Given the description of an element on the screen output the (x, y) to click on. 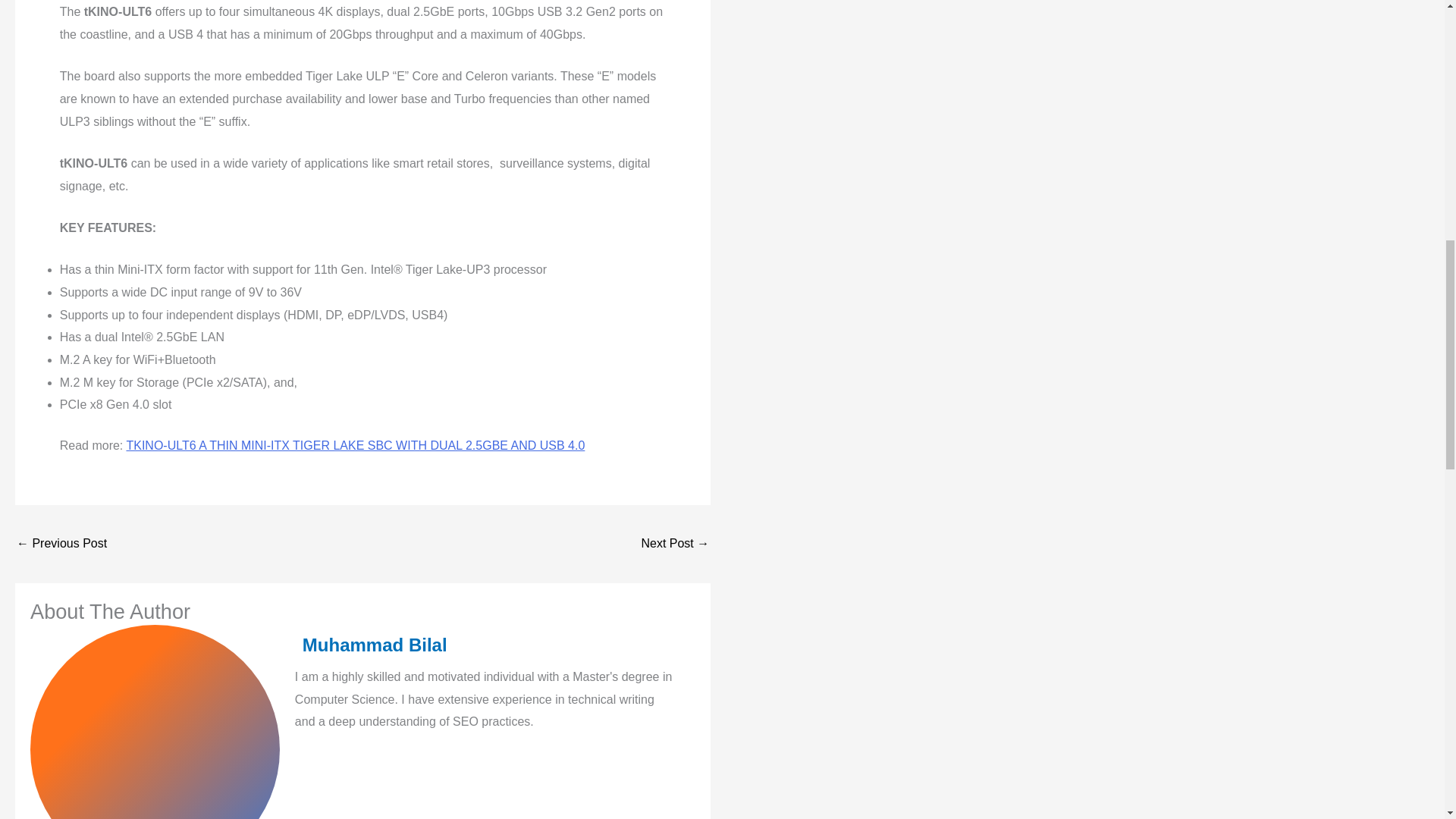
Automated Resistor Sorter with GUI (61, 544)
Build your own Wireless Network detector using PIC12F629 (674, 544)
